Given the description of an element on the screen output the (x, y) to click on. 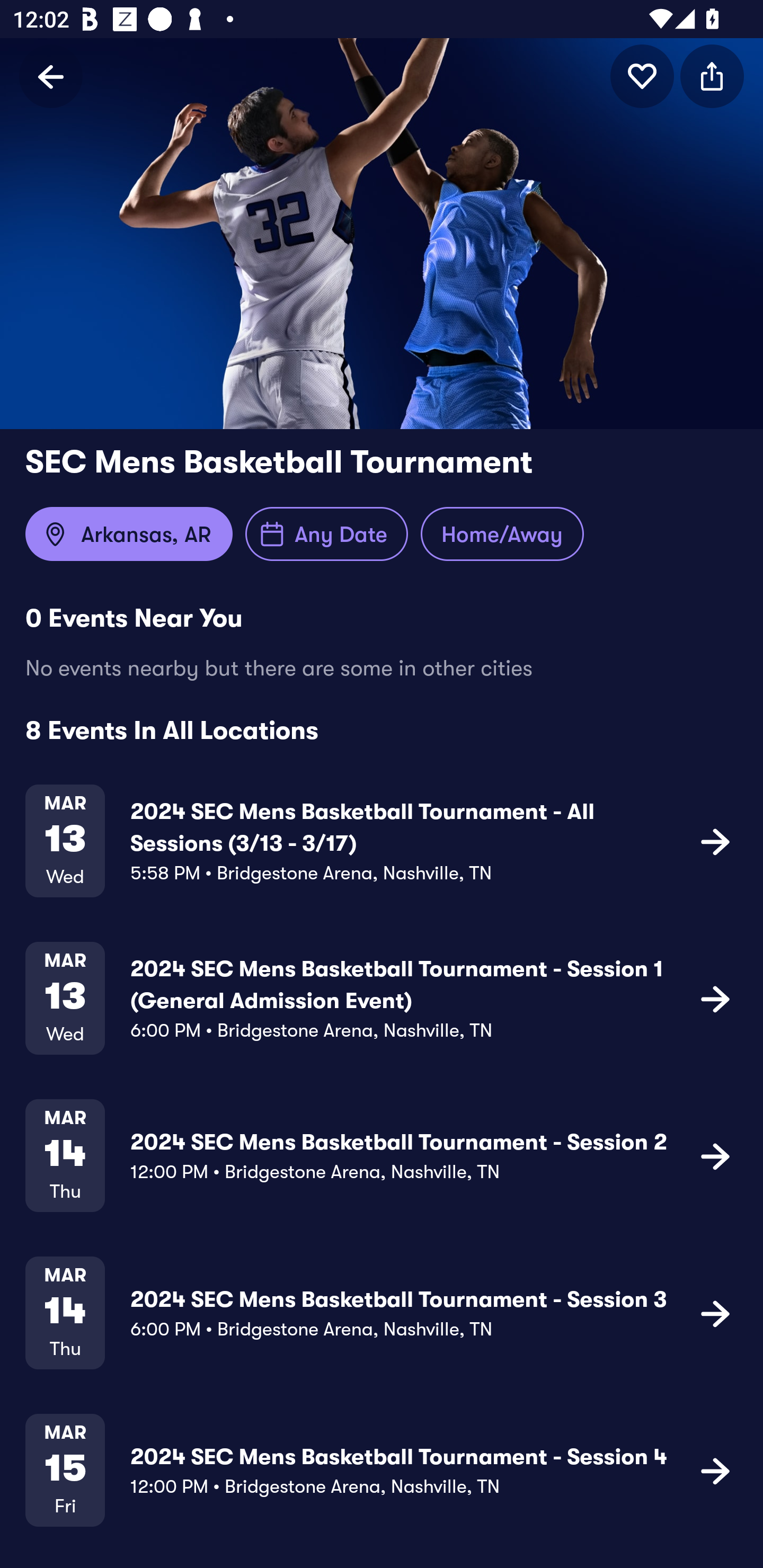
Back (50, 75)
icon button (641, 75)
icon button (711, 75)
Arkansas, AR (128, 533)
Any Date (326, 533)
Home/Away (501, 533)
icon button (714, 840)
icon button (714, 998)
icon button (714, 1155)
icon button (714, 1312)
icon button (714, 1470)
